Given the description of an element on the screen output the (x, y) to click on. 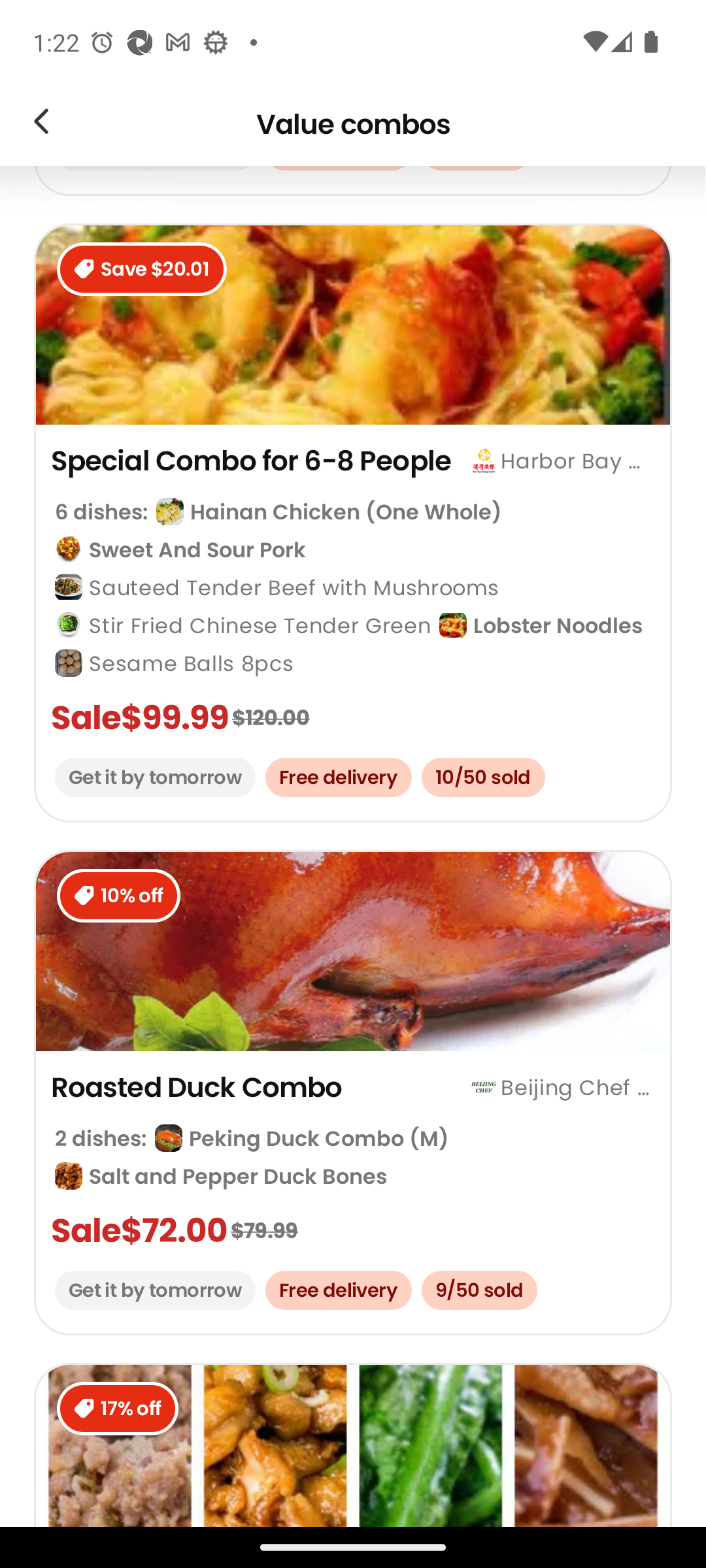
Image (41, 124)
